Given the description of an element on the screen output the (x, y) to click on. 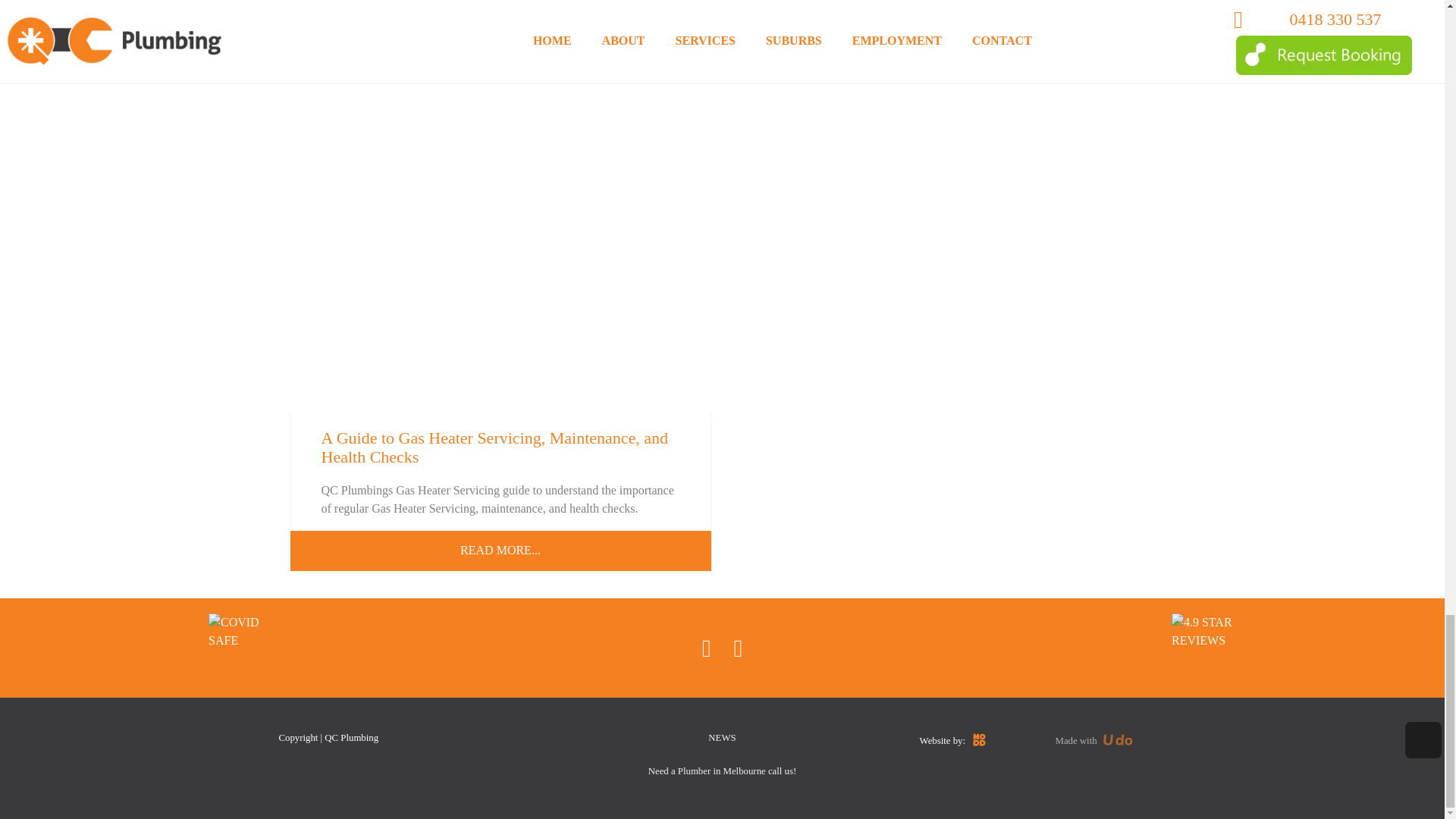
Udo Website Builder (1118, 740)
Website by MODD (979, 740)
